Given the description of an element on the screen output the (x, y) to click on. 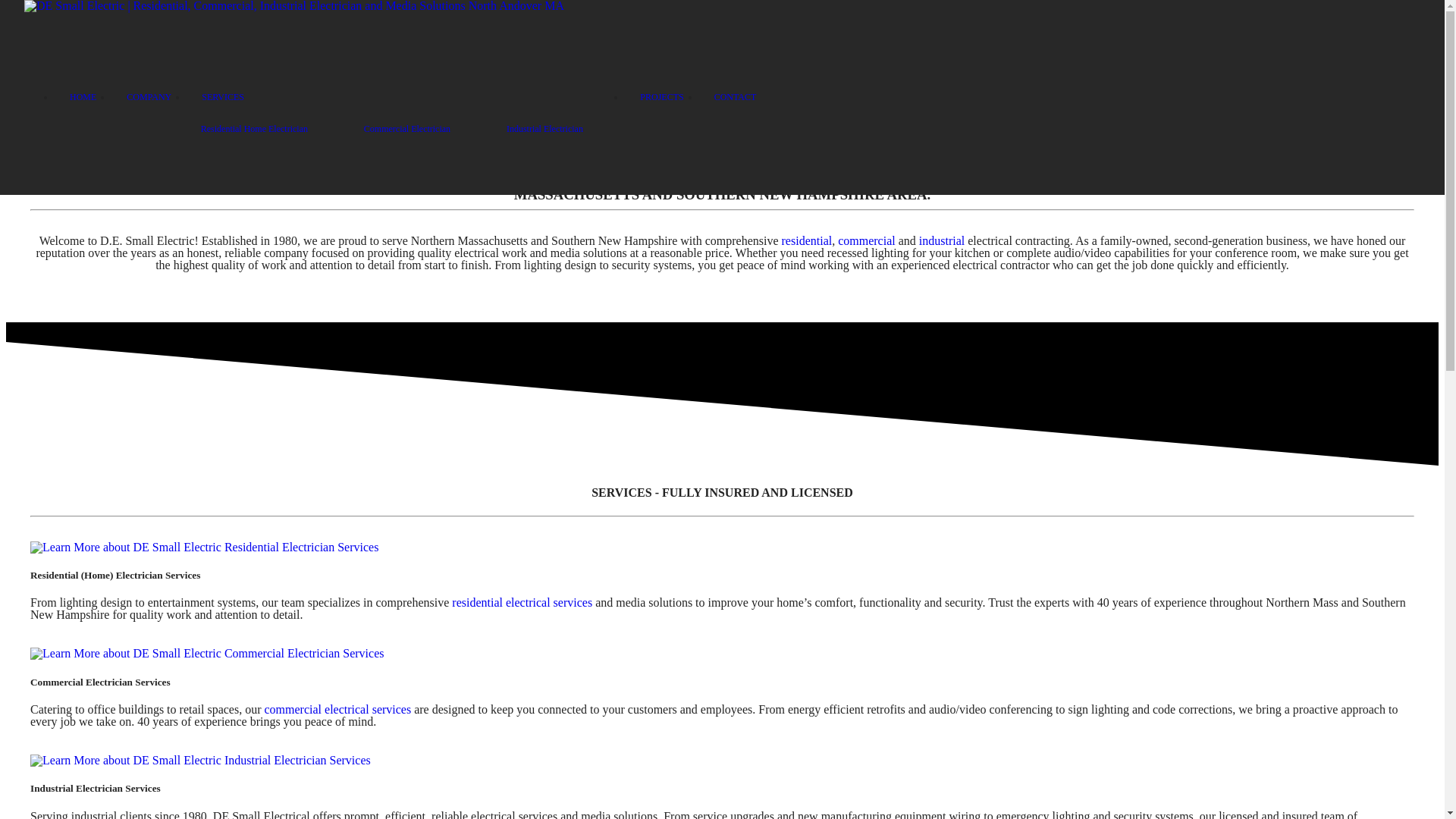
COMPANY (149, 96)
RESIDENTIAL (608, 178)
CONTACT (734, 96)
industrial (940, 240)
PROJECTS (661, 96)
commercial electrical services (338, 708)
Industrial Electrician (558, 128)
INDUSTRIAL (818, 178)
COMMERCIAL (715, 178)
residential (806, 240)
